Given the description of an element on the screen output the (x, y) to click on. 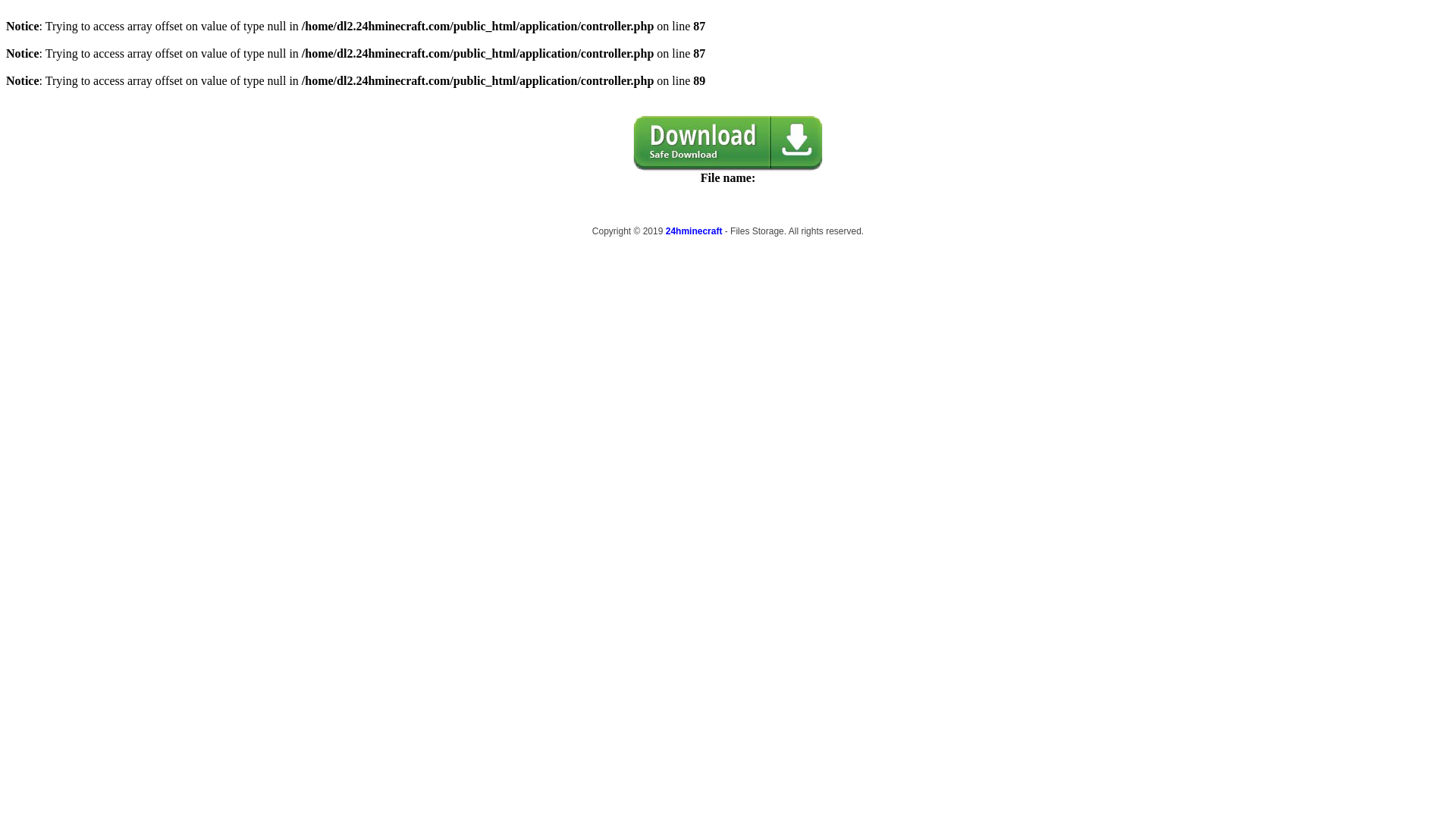
Advertisement Element type: hover (612, 363)
Advertisement Element type: hover (843, 363)
24hminecraft Element type: text (693, 230)
